Given the description of an element on the screen output the (x, y) to click on. 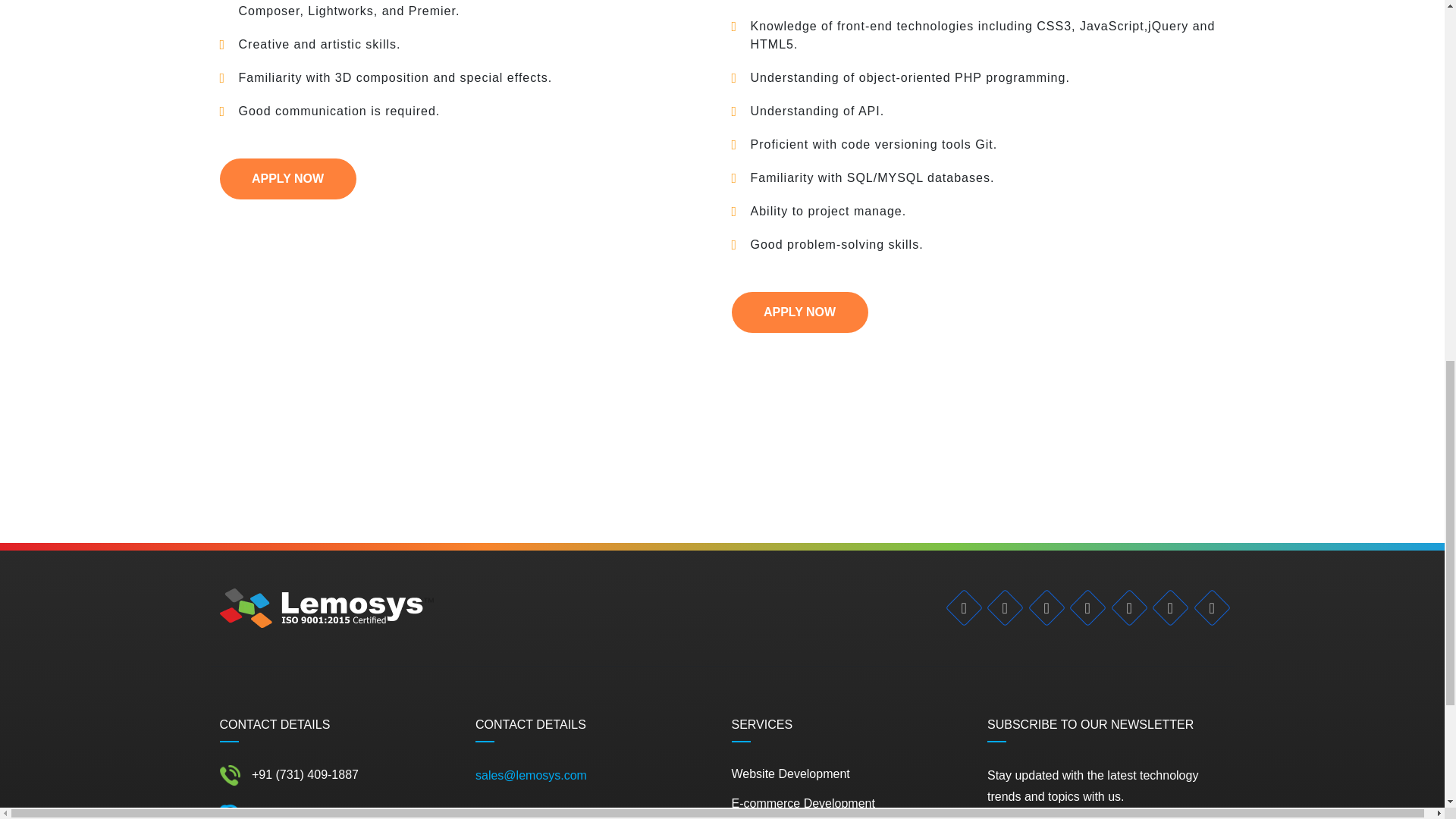
APPLY NOW (287, 178)
Linkedin (1040, 601)
Apple Itunes (1123, 601)
youtube (1164, 601)
Facebook (958, 601)
APPLY NOW (798, 311)
instagram (1082, 601)
Tweet Now (1000, 601)
Google Play (1206, 601)
